Given the description of an element on the screen output the (x, y) to click on. 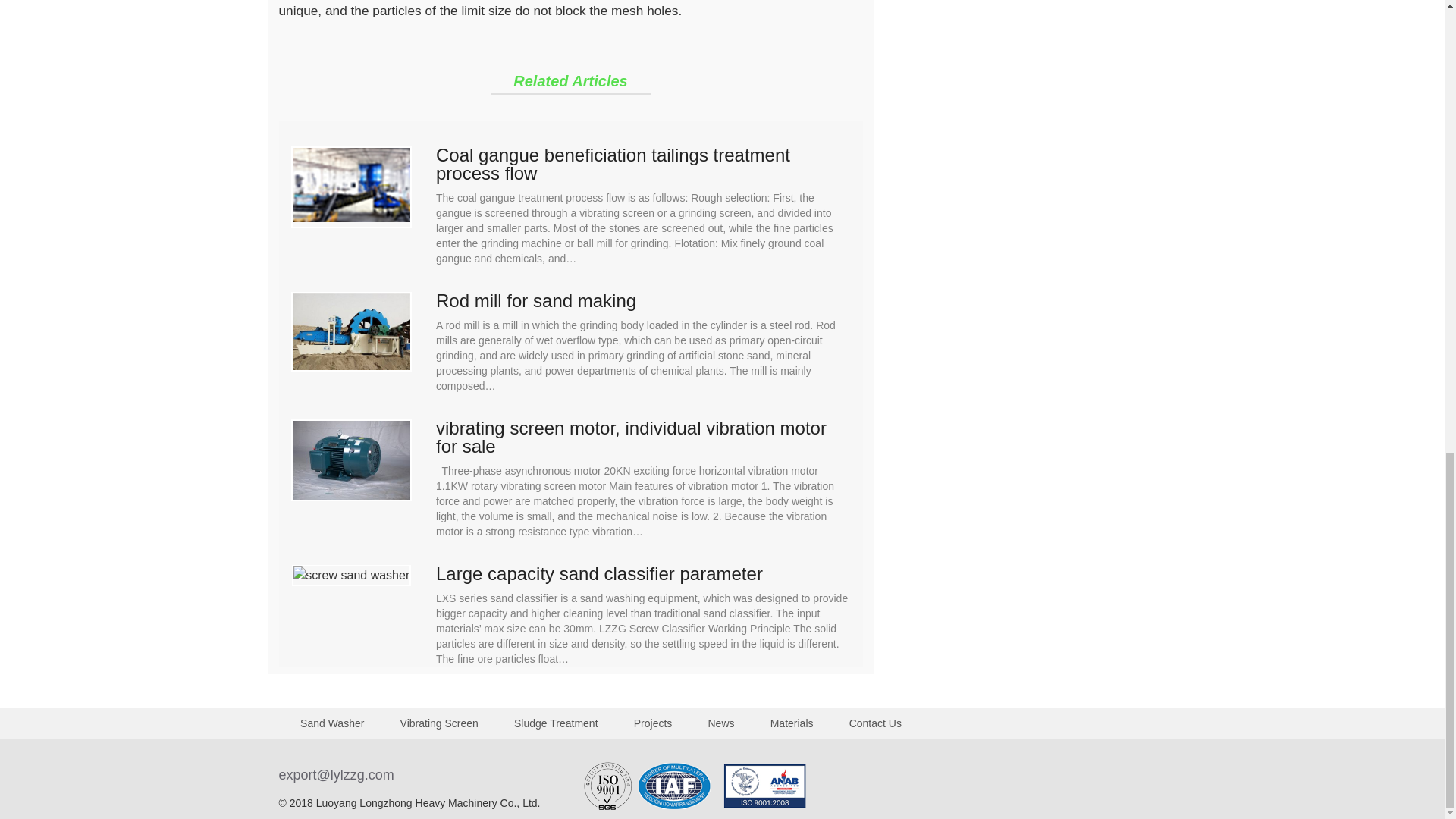
Rod mill for sand making (643, 300)
vibrating screen motor, individual vibration motor for sale (643, 437)
Coal gangue beneficiation tailings treatment process flow (643, 164)
Large capacity sand classifier parameter (643, 574)
Sand Washer (331, 723)
